Given the description of an element on the screen output the (x, y) to click on. 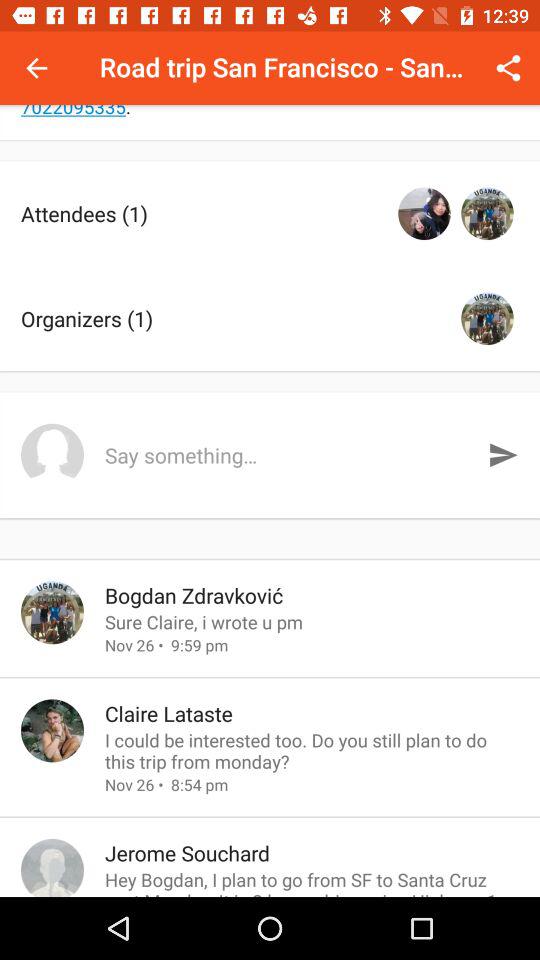
tap the sure claire i (312, 621)
